Given the description of an element on the screen output the (x, y) to click on. 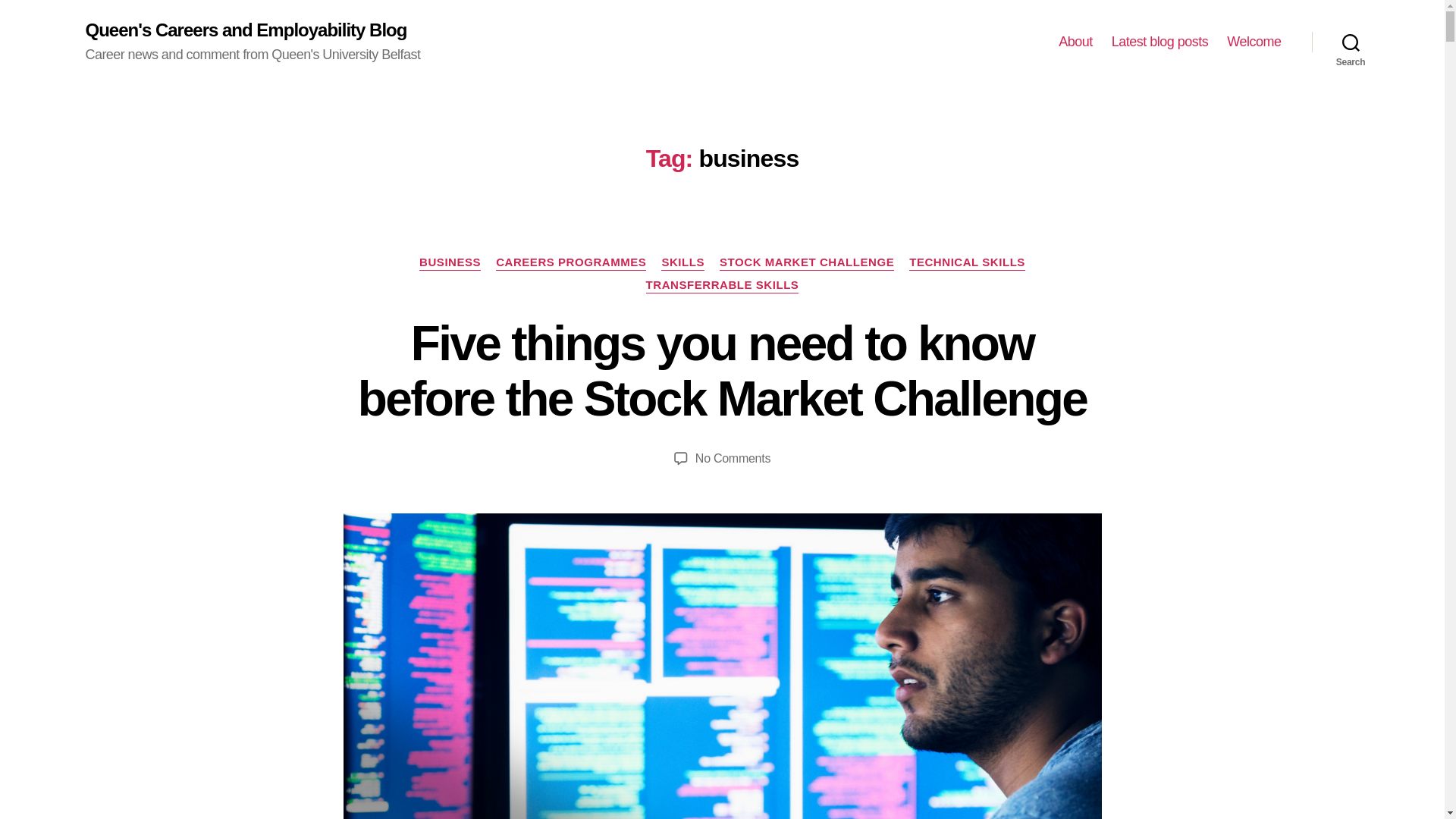
Latest blog posts (1160, 42)
TECHNICAL SKILLS (966, 263)
SKILLS (682, 263)
BUSINESS (449, 263)
Queen's Careers and Employability Blog (245, 30)
Search (1350, 41)
TRANSFERRABLE SKILLS (722, 285)
CAREERS PROGRAMMES (571, 263)
About (1075, 42)
STOCK MARKET CHALLENGE (806, 263)
Welcome (1254, 42)
